Given the description of an element on the screen output the (x, y) to click on. 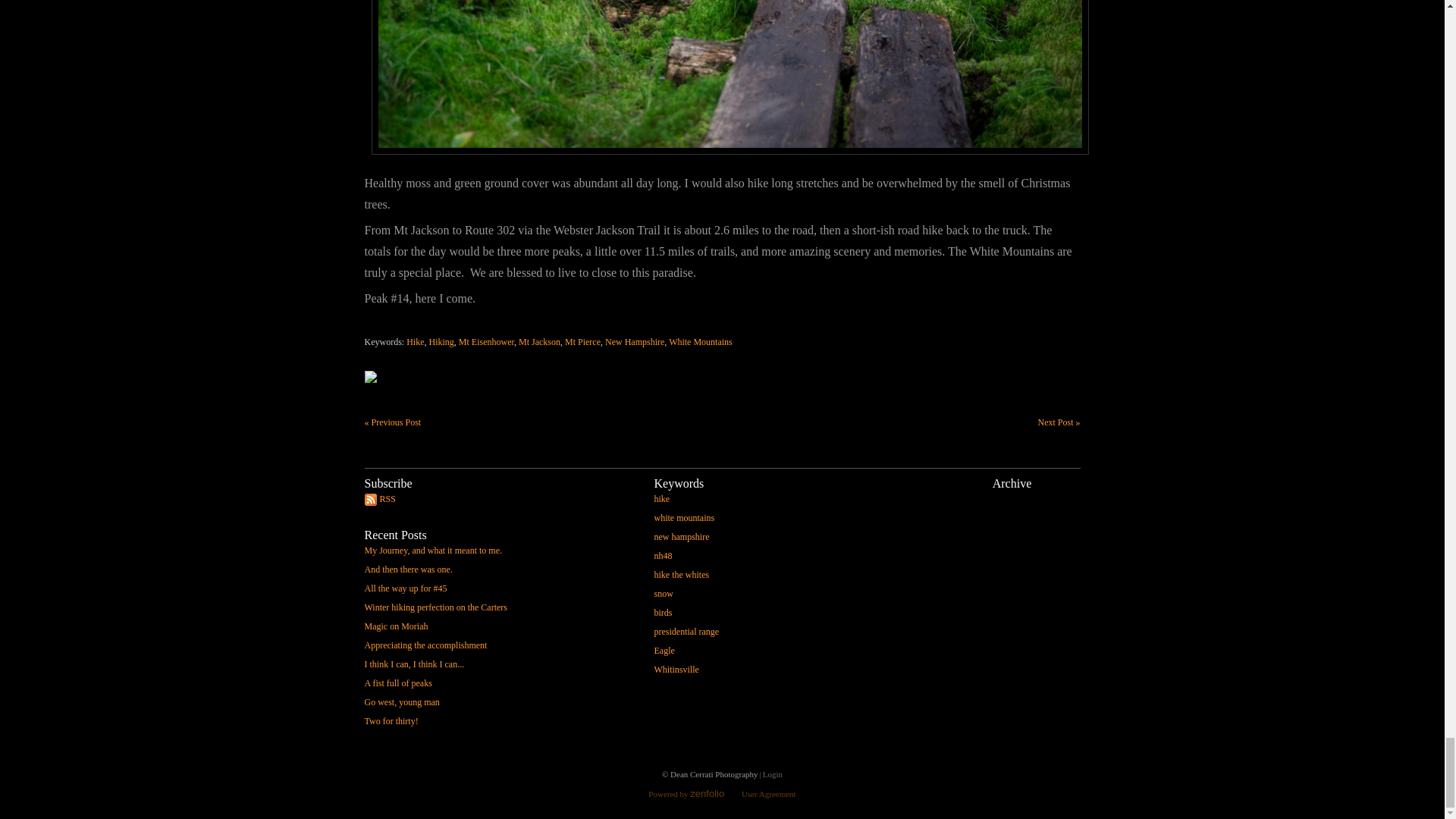
New Hampshire (634, 341)
Mt Eisenhower (485, 341)
Mt Jackson (539, 341)
Hiking (441, 341)
Hike (414, 341)
Mt Pierce (581, 341)
